Given the description of an element on the screen output the (x, y) to click on. 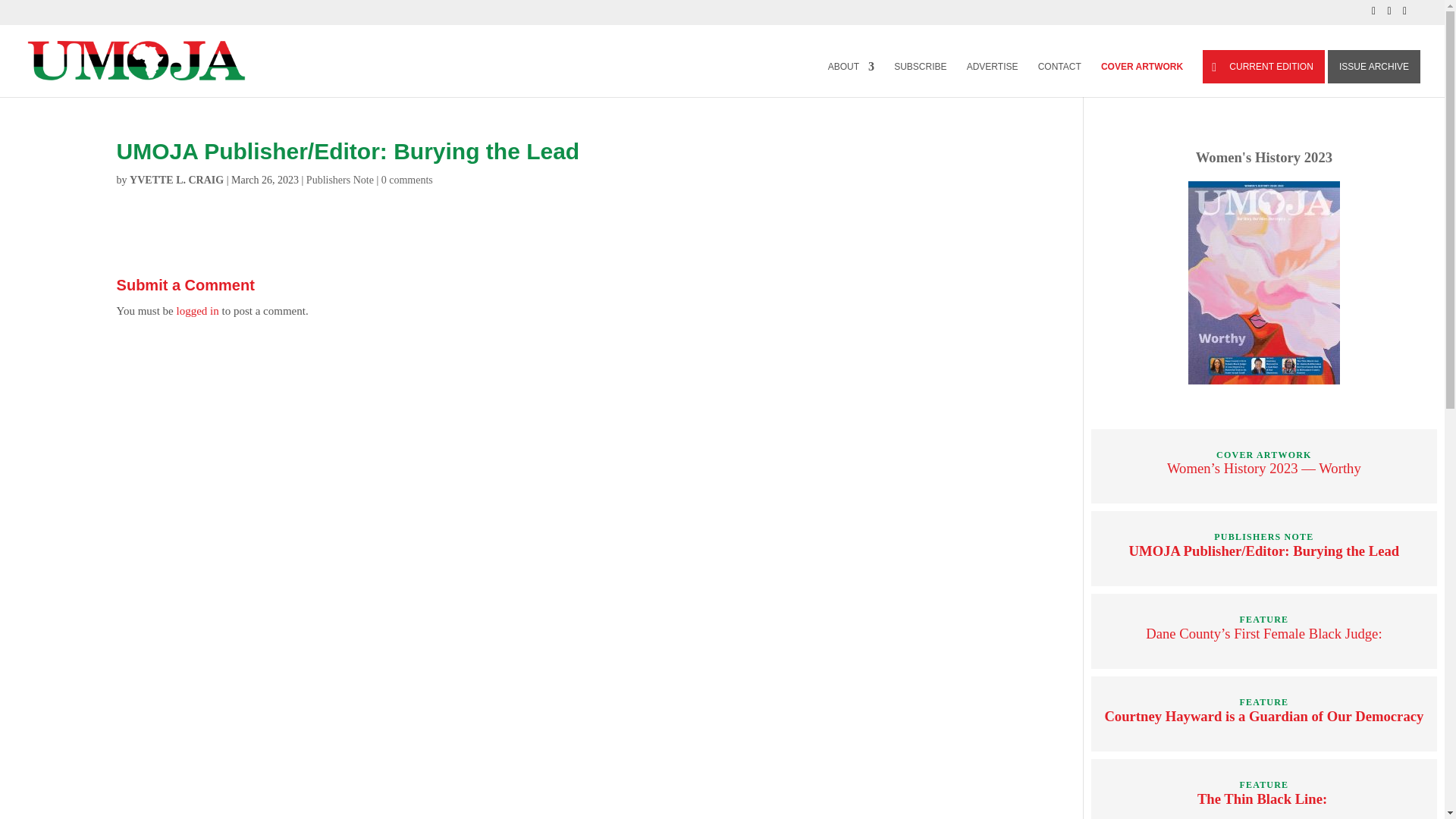
0 comments (406, 179)
ADVERTISE (991, 78)
YVETTE L. CRAIG (176, 179)
Posts by Yvette L. Craig (176, 179)
CONTACT (1059, 78)
Publishers Note (339, 179)
logged in (197, 310)
CURRENT EDITION (1262, 66)
SUBSCRIBE (919, 78)
ABOUT (851, 78)
ISSUE ARCHIVE (1374, 66)
COVER ARTWORK (1141, 78)
Women's History 2023 (1263, 157)
